Given the description of an element on the screen output the (x, y) to click on. 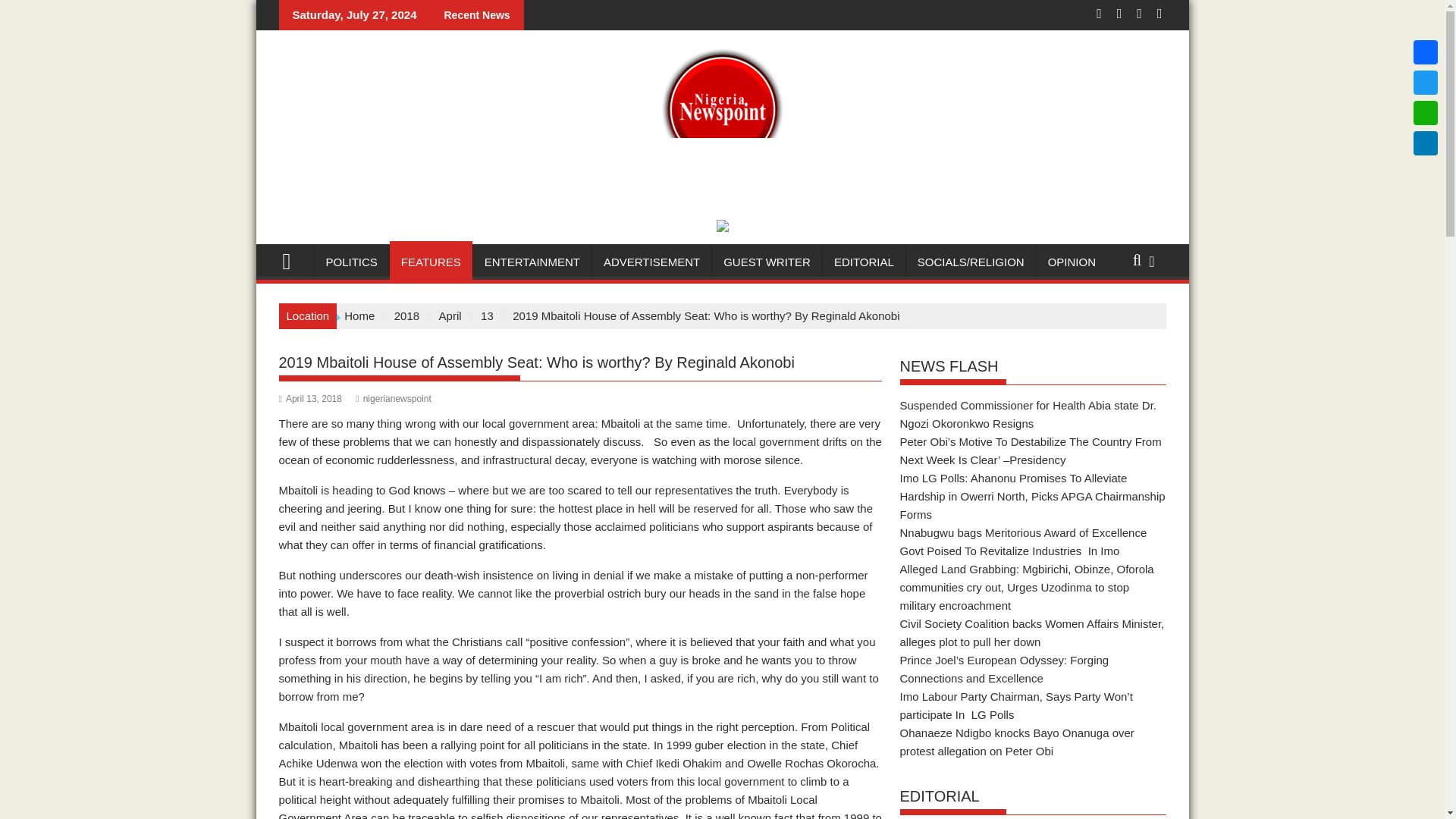
nigerianewspoint (392, 398)
Home (358, 315)
POLITICS (351, 262)
ENTERTAINMENT (532, 262)
April 13, 2018 (310, 398)
2018 (406, 315)
13 (486, 315)
FEATURES (430, 262)
EDITORIAL (863, 262)
April (450, 315)
GUEST WRITER (766, 262)
ADVERTISEMENT (651, 262)
OPINION (1071, 262)
